Given the description of an element on the screen output the (x, y) to click on. 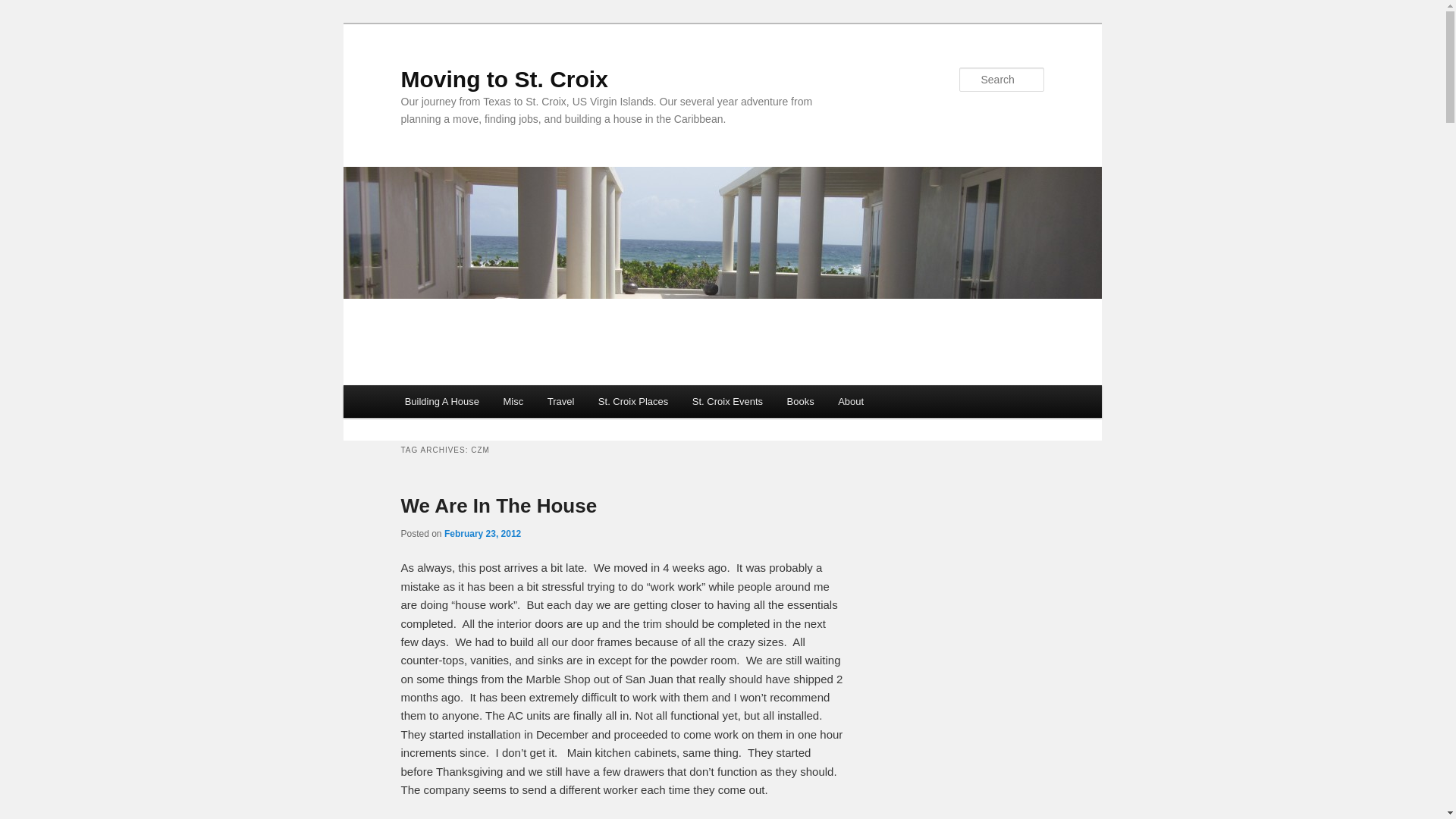
11:10 pm (482, 533)
February 23, 2012 (482, 533)
Search (24, 8)
Building A House (442, 400)
St. Croix Events (726, 400)
About (850, 400)
St. Croix Places (632, 400)
Books (800, 400)
Moving to St. Croix (503, 78)
